Given the description of an element on the screen output the (x, y) to click on. 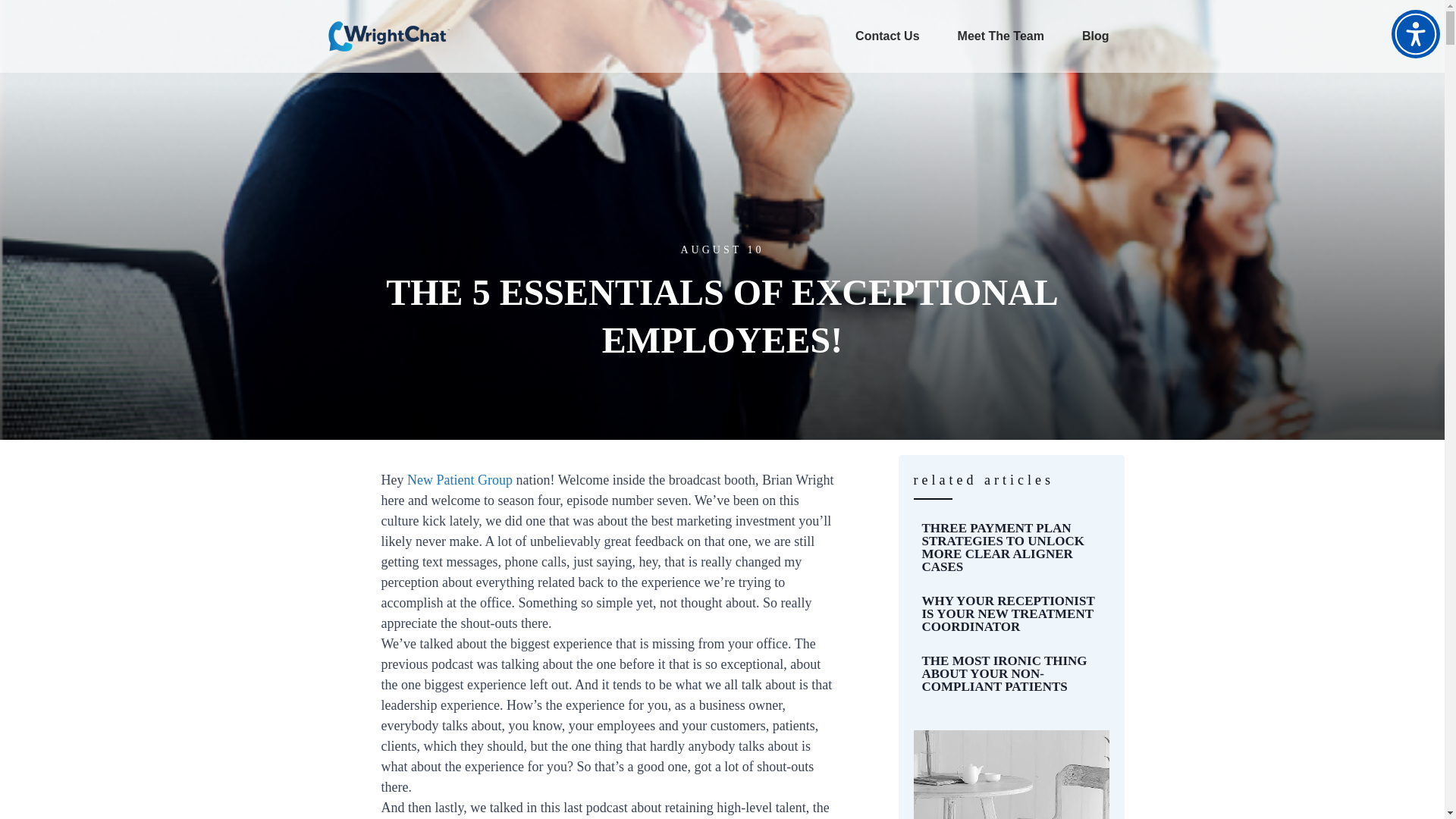
Link (887, 36)
Accessibility Menu (1415, 33)
THE MOST IRONIC THING ABOUT YOUR NON-COMPLIANT PATIENTS (1004, 673)
Blog (1095, 36)
Why your Receptionist is your New Treatment Coordinator (1011, 613)
New Patient Group (459, 479)
The Most Ironic Thing About Your Non-Compliant Patients (1011, 673)
Meet The Team (1000, 36)
Link (387, 35)
Contact Us (887, 36)
Link (1095, 36)
WHY YOUR RECEPTIONIST IS YOUR NEW TREATMENT COORDINATOR (1007, 613)
Link (1000, 36)
